Given the description of an element on the screen output the (x, y) to click on. 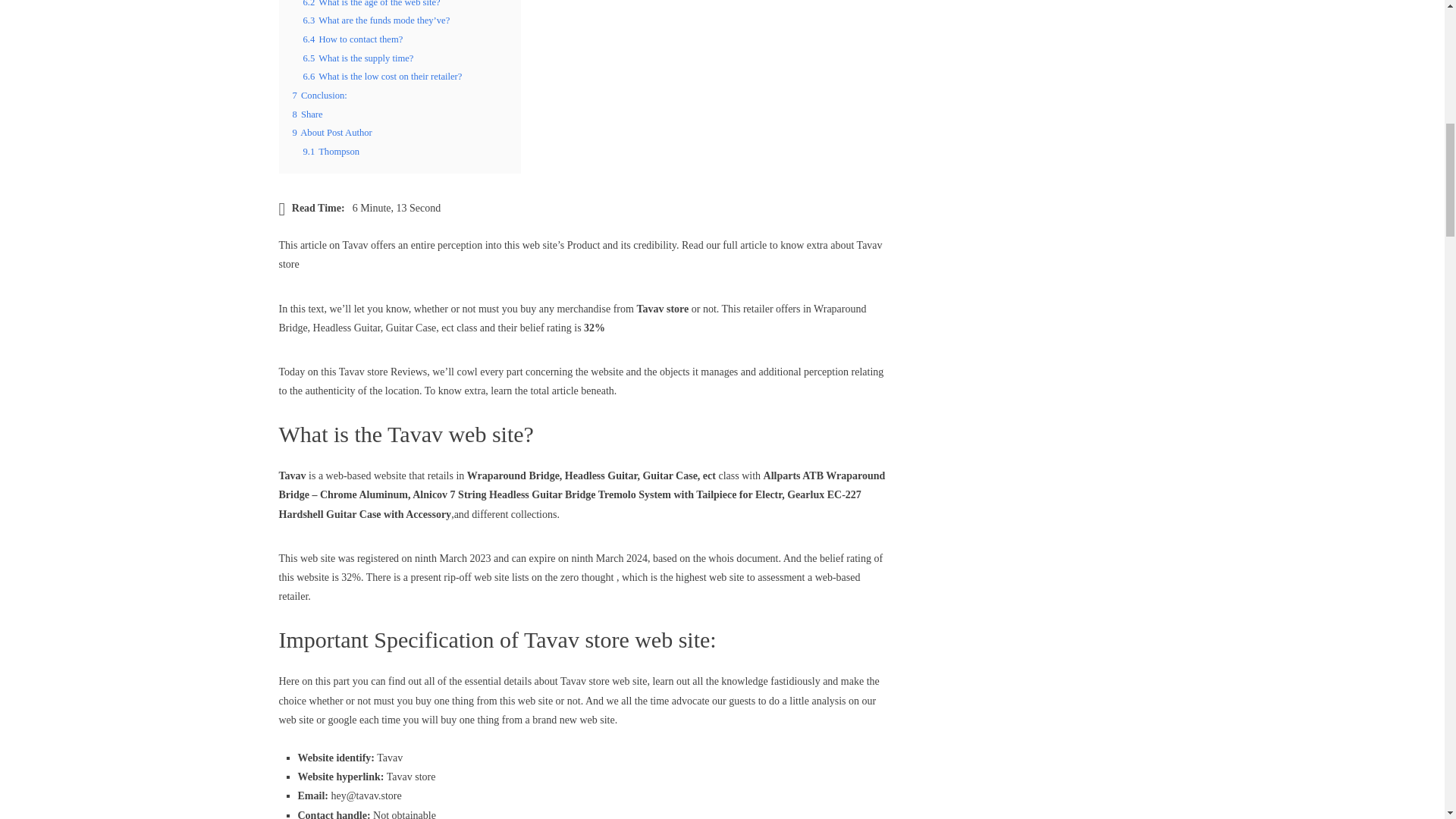
9 About Post Author (332, 132)
6.6 What is the low cost on their retailer? (382, 76)
8 Share (307, 113)
6.5 What is the supply time? (357, 58)
6.2 What is the age of the web site? (371, 3)
9.1 Thompson (330, 151)
7 Conclusion: (319, 95)
6.4 How to contact them? (352, 39)
